Given the description of an element on the screen output the (x, y) to click on. 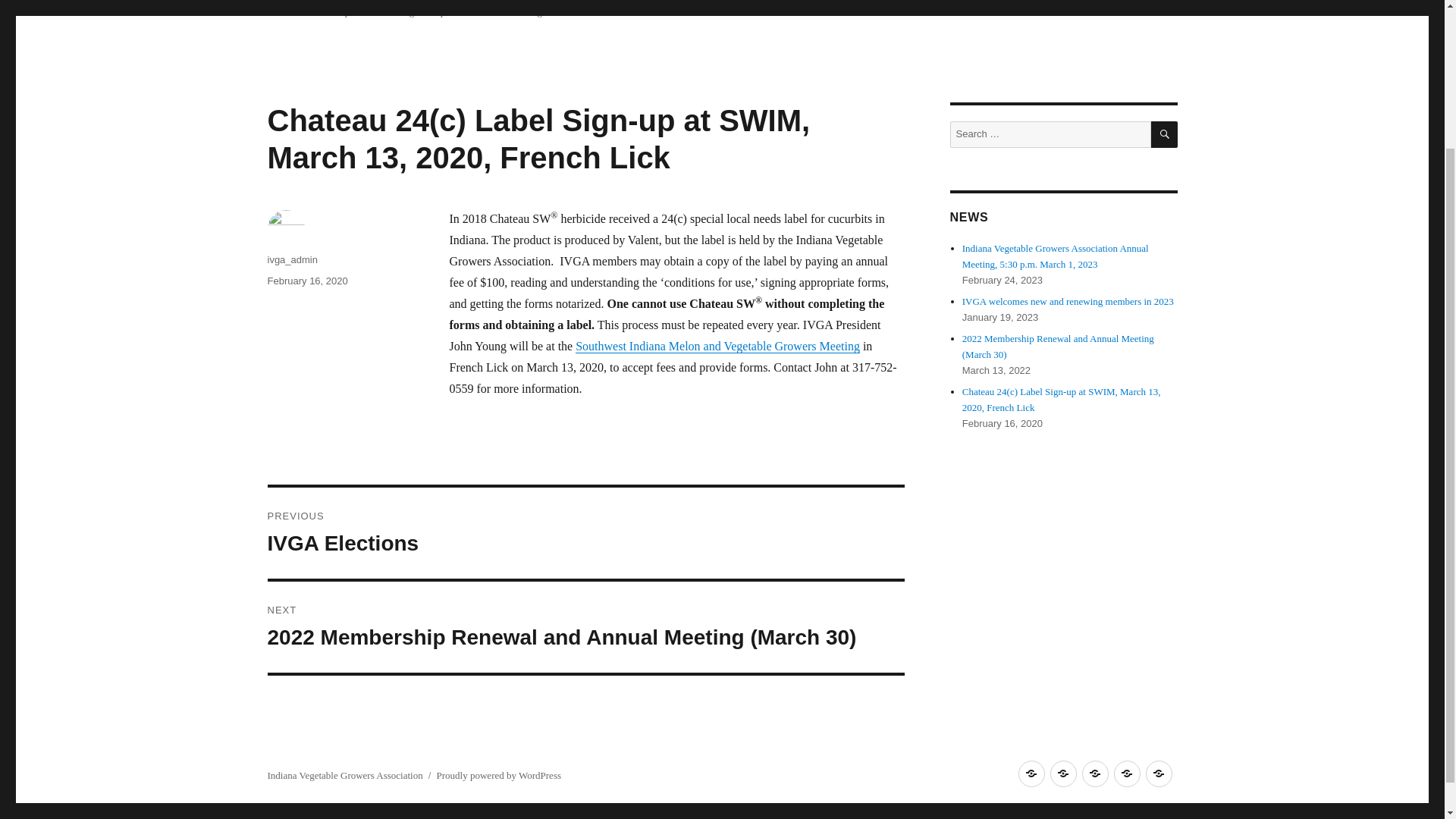
Southwest Indiana Melon and Vegetable Growers Meeting (717, 345)
Member Websites (1062, 773)
Corporate Members (1126, 773)
February 16, 2020 (306, 280)
Links (1158, 773)
Join or Renew (585, 532)
SEARCH (1094, 773)
Indiana Vegetable Growers Association (1164, 134)
